Given the description of an element on the screen output the (x, y) to click on. 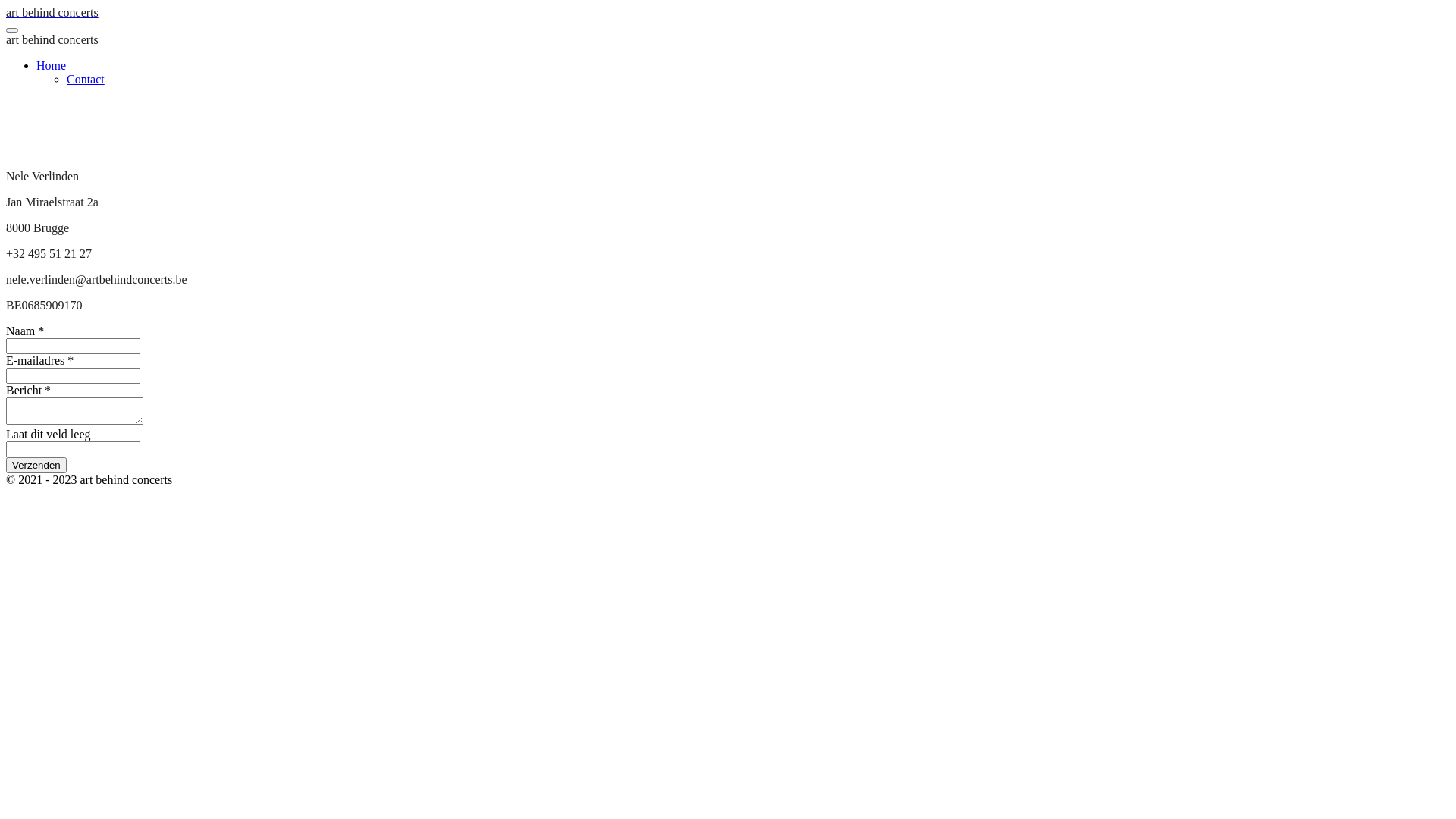
Home Element type: text (50, 65)
Verzenden Element type: text (36, 465)
art behind concerts Element type: text (52, 39)
art behind concerts Element type: text (52, 12)
Contact Element type: text (85, 78)
